Given the description of an element on the screen output the (x, y) to click on. 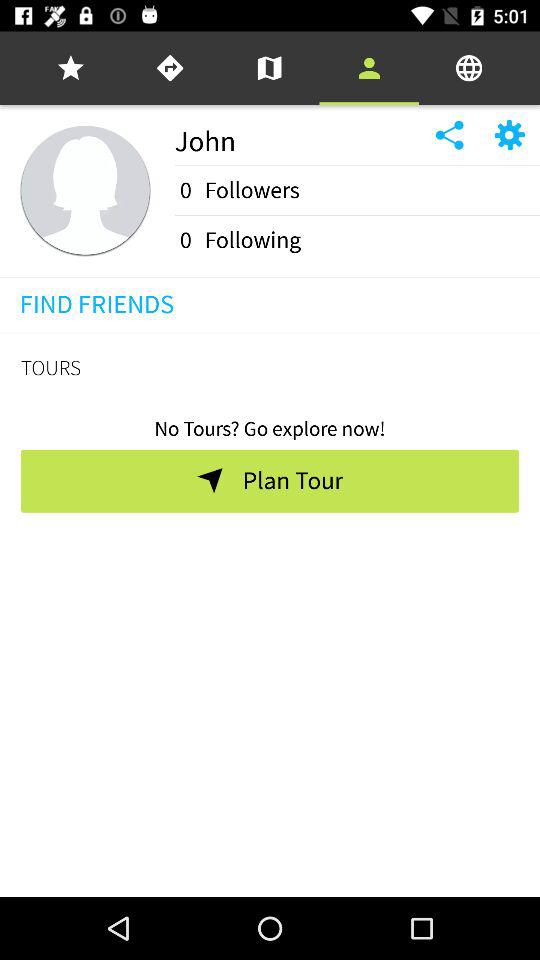
click item above tours icon (270, 332)
